Given the description of an element on the screen output the (x, y) to click on. 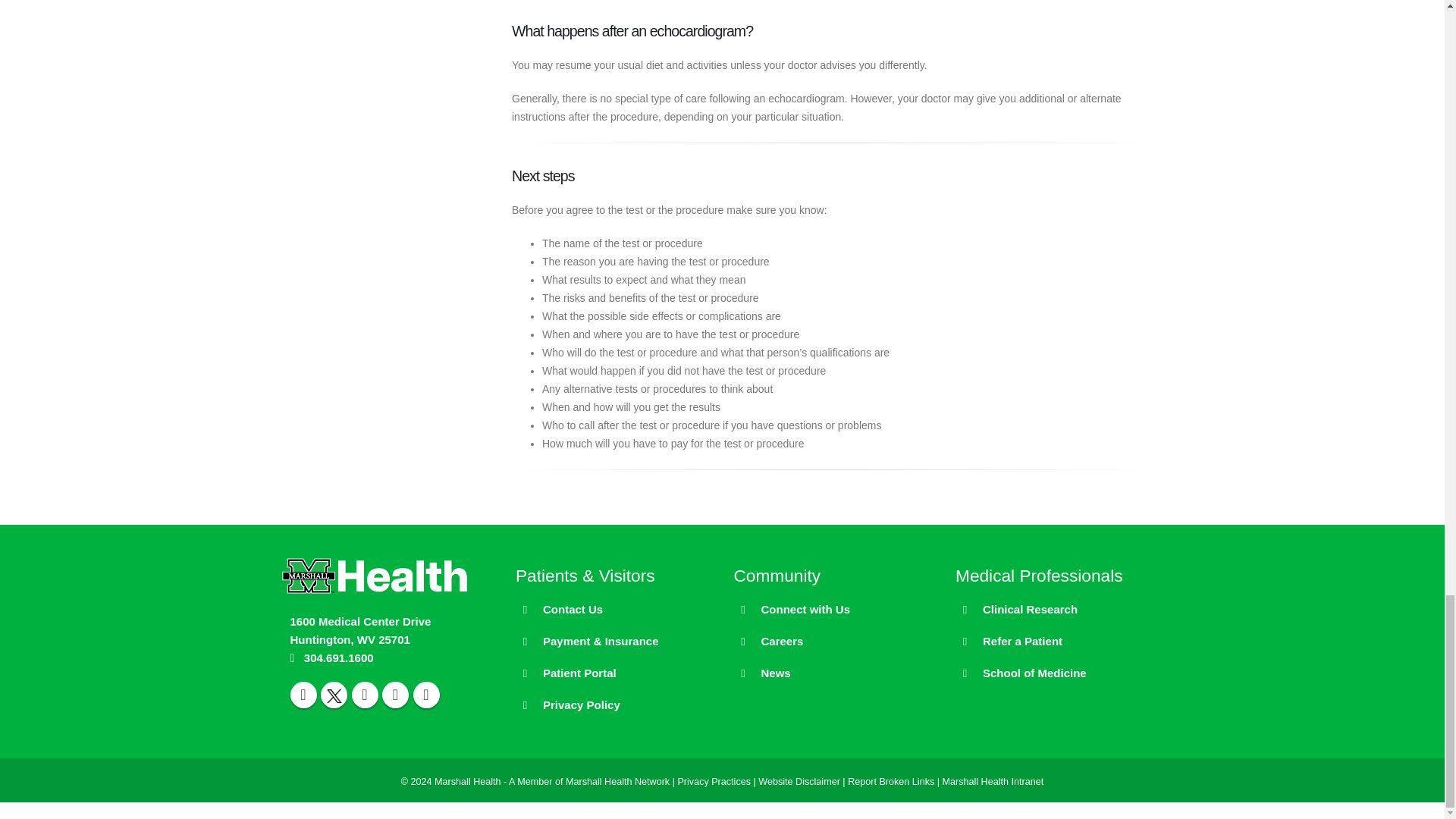
YouTube (365, 694)
Twitter (333, 694)
Linkedin (425, 694)
Instagram (395, 694)
Facebook (302, 694)
